Given the description of an element on the screen output the (x, y) to click on. 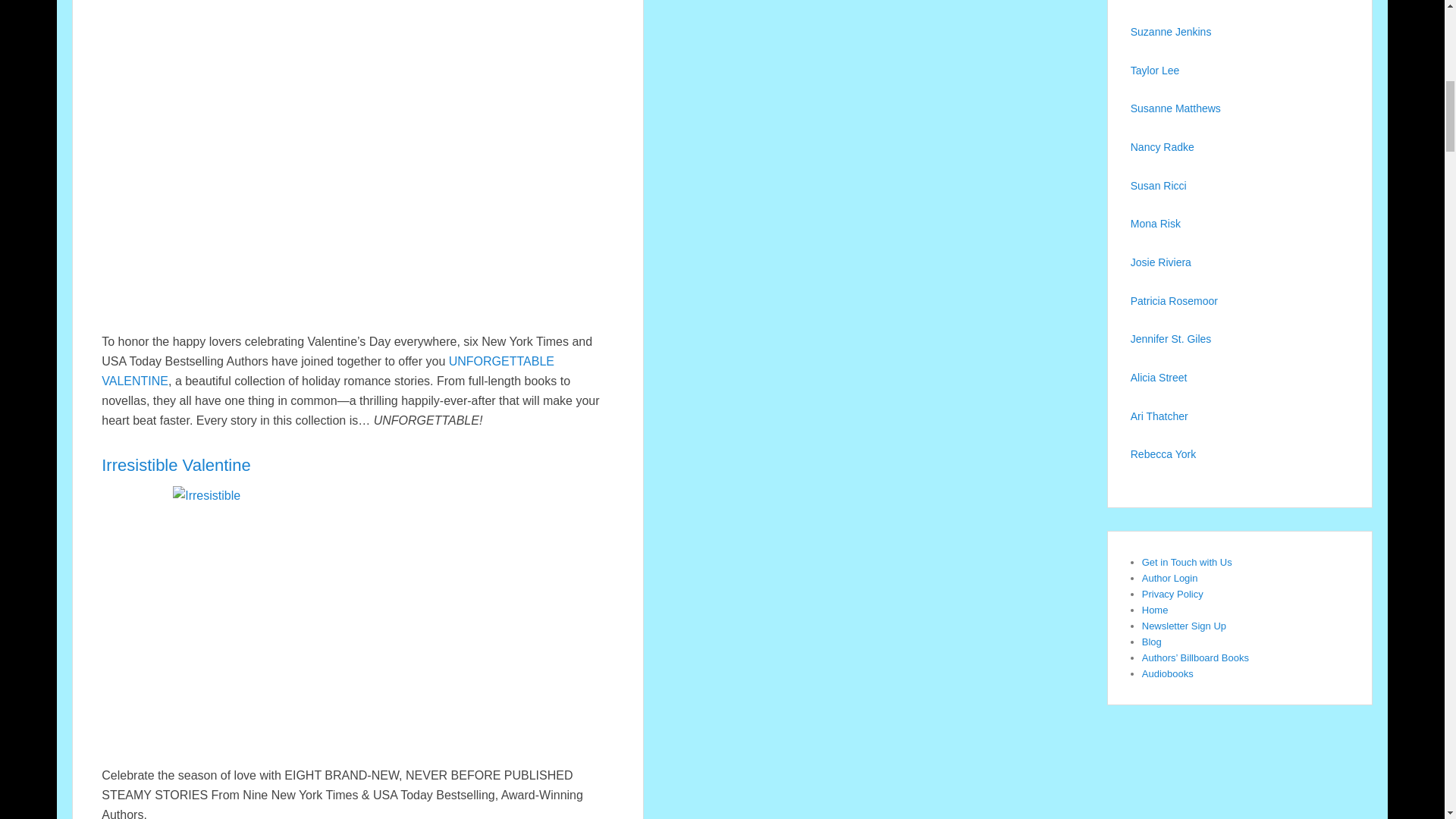
UNFORGETTABLE VALENTINE (327, 370)
Irresistible Valentine (175, 465)
